Given the description of an element on the screen output the (x, y) to click on. 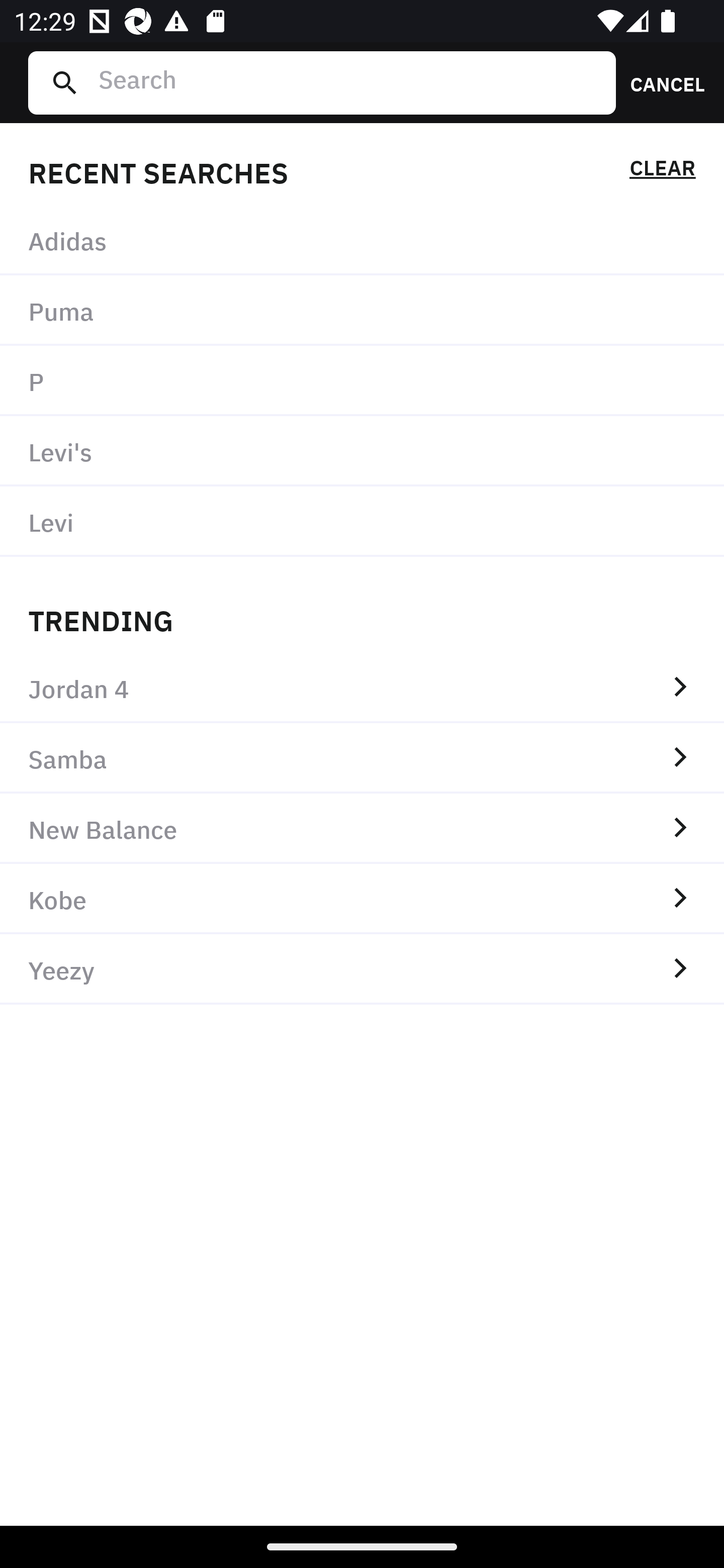
CANCEL (660, 82)
Search (349, 82)
CLEAR (662, 170)
Adidas (362, 240)
Puma (362, 310)
P (362, 380)
Levi's (362, 450)
Levi (362, 521)
Jordan 4  (362, 687)
Samba  (362, 757)
New Balance  (362, 828)
Kobe  (362, 898)
Yeezy  (362, 969)
